Given the description of an element on the screen output the (x, y) to click on. 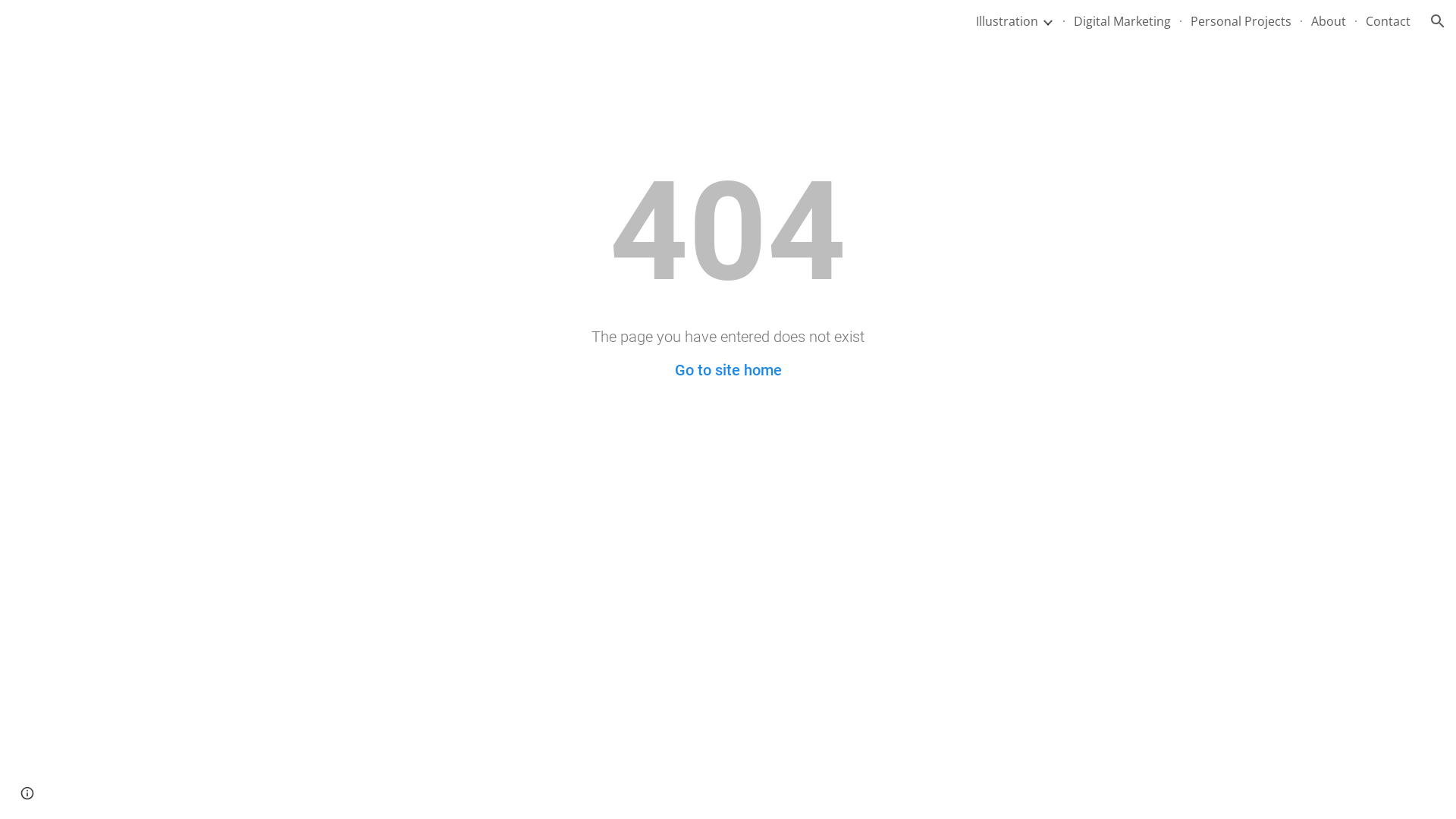
Digital Marketing Element type: text (1121, 20)
About Element type: text (1328, 20)
Personal Projects Element type: text (1240, 20)
Expand/Collapse Element type: hover (1047, 20)
Illustration Element type: text (1006, 20)
Contact Element type: text (1387, 20)
Go to site home Element type: text (727, 369)
